Given the description of an element on the screen output the (x, y) to click on. 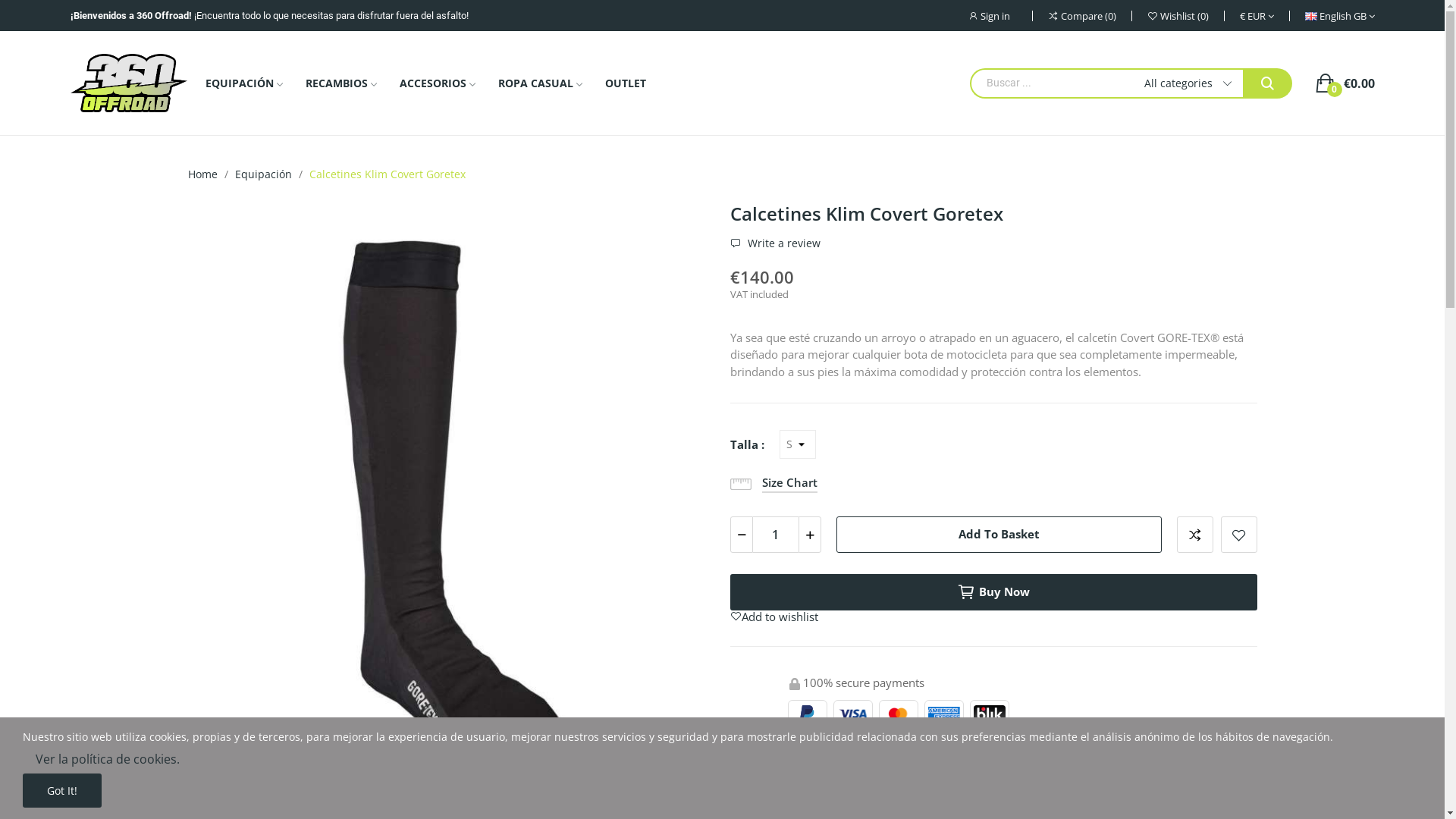
Share Element type: text (781, 745)
ROPA CASUAL Element type: text (539, 83)
Buy Now Element type: text (992, 592)
Got It! Element type: text (61, 790)
All categories Element type: text (1177, 83)
Add to compare Element type: text (782, 768)
Tweet Element type: text (810, 745)
Write a review Element type: text (774, 243)
Sign in Element type: text (999, 15)
Wishlist 0 Element type: text (1177, 15)
ACCESORIOS Element type: text (436, 83)
Compare 0 Element type: text (1080, 15)
Add to compare Element type: text (1194, 534)
RECAMBIOS Element type: text (340, 83)
Add to wishlist Element type: text (1238, 534)
Add to wishlist Element type: text (773, 616)
Add To Basket Element type: text (998, 534)
Pinterest Element type: text (839, 745)
Home Element type: text (202, 173)
OUTLET Element type: text (625, 83)
